Given the description of an element on the screen output the (x, y) to click on. 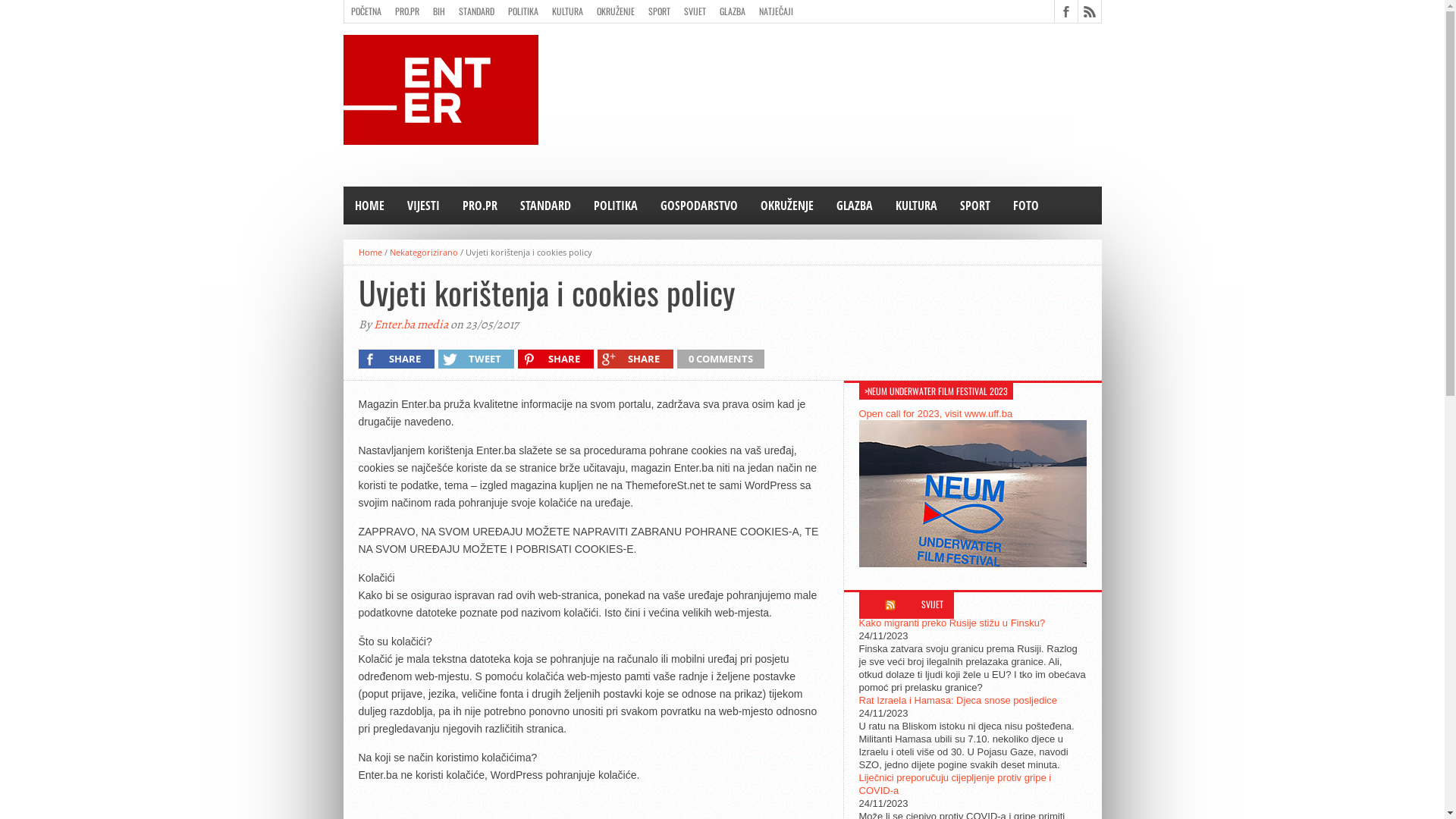
STANDARD Element type: text (476, 11)
SPORT Element type: text (974, 205)
KONTAKT Element type: text (463, 33)
KULTURA Element type: text (566, 11)
Nekategorizirano Element type: text (423, 251)
VIJESTI Element type: text (423, 205)
STANDARD Element type: text (544, 205)
POLITIKA Element type: text (615, 205)
Advertisement Element type: hover (824, 68)
GOSPODARSTVO Element type: text (699, 205)
Enter.ba media Element type: text (410, 324)
KULTURA Element type: text (916, 205)
FILMING LOCATION IN BH Element type: text (392, 33)
Rat Izraela i Hamasa: Djeca snose posljedice Element type: text (957, 700)
SVIJET Element type: text (694, 11)
POLITIKA Element type: text (522, 11)
HOME Element type: text (368, 205)
BIH Element type: text (438, 11)
GLAZBA Element type: text (854, 205)
GLAZBA Element type: text (732, 11)
SVIJET Element type: text (932, 604)
FOTO Element type: text (1025, 205)
SPORT Element type: text (659, 11)
Home Element type: text (369, 251)
PRO.PR Element type: text (407, 11)
Open call for 2023, visit www.uff.ba Element type: text (935, 413)
PRO.PR Element type: text (479, 205)
